Given the description of an element on the screen output the (x, y) to click on. 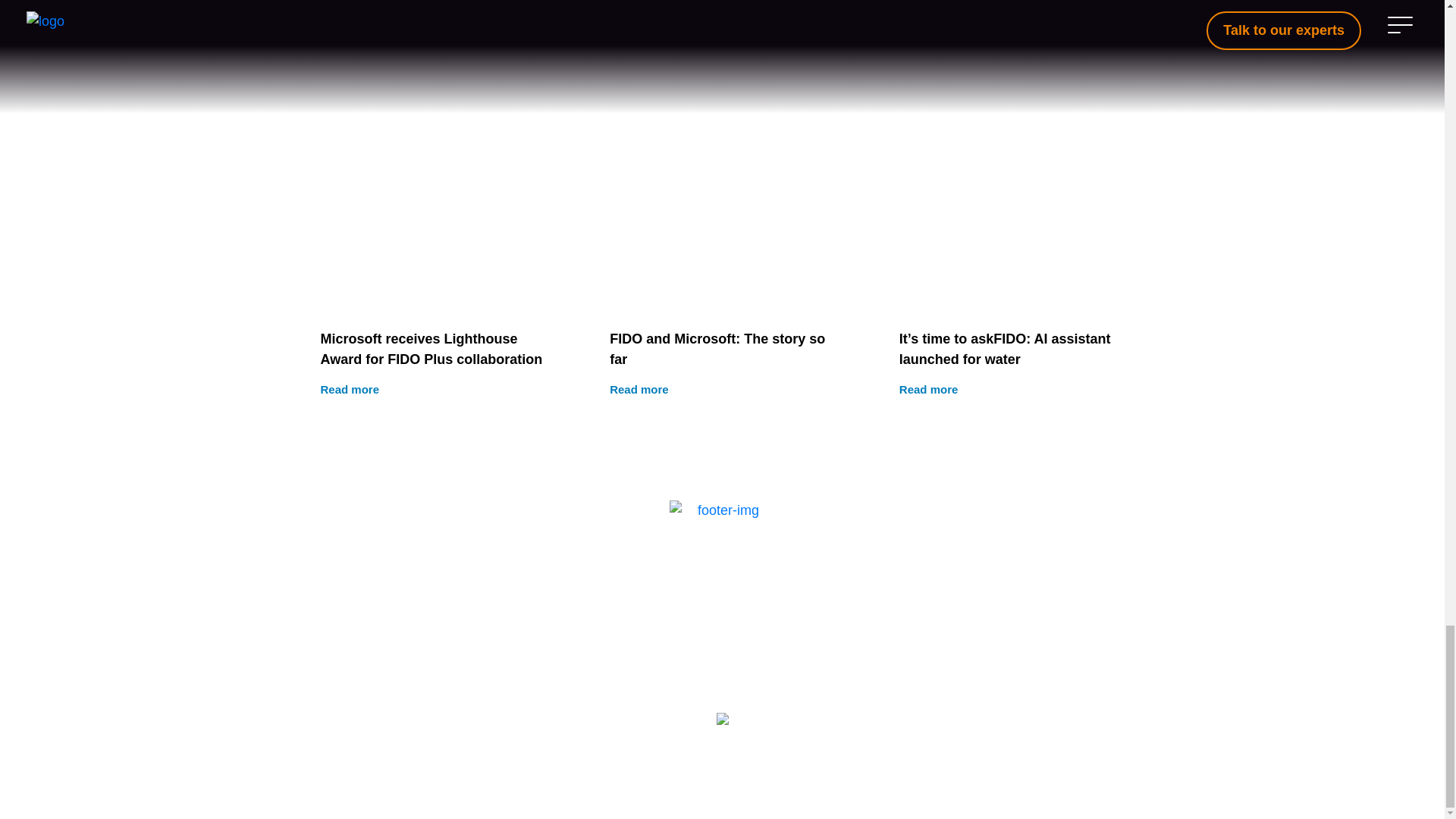
Cookie policy (767, 763)
Careers with FIDO (721, 559)
Contact (722, 288)
News (722, 593)
Events (721, 627)
Privacy policy (722, 662)
